Given the description of an element on the screen output the (x, y) to click on. 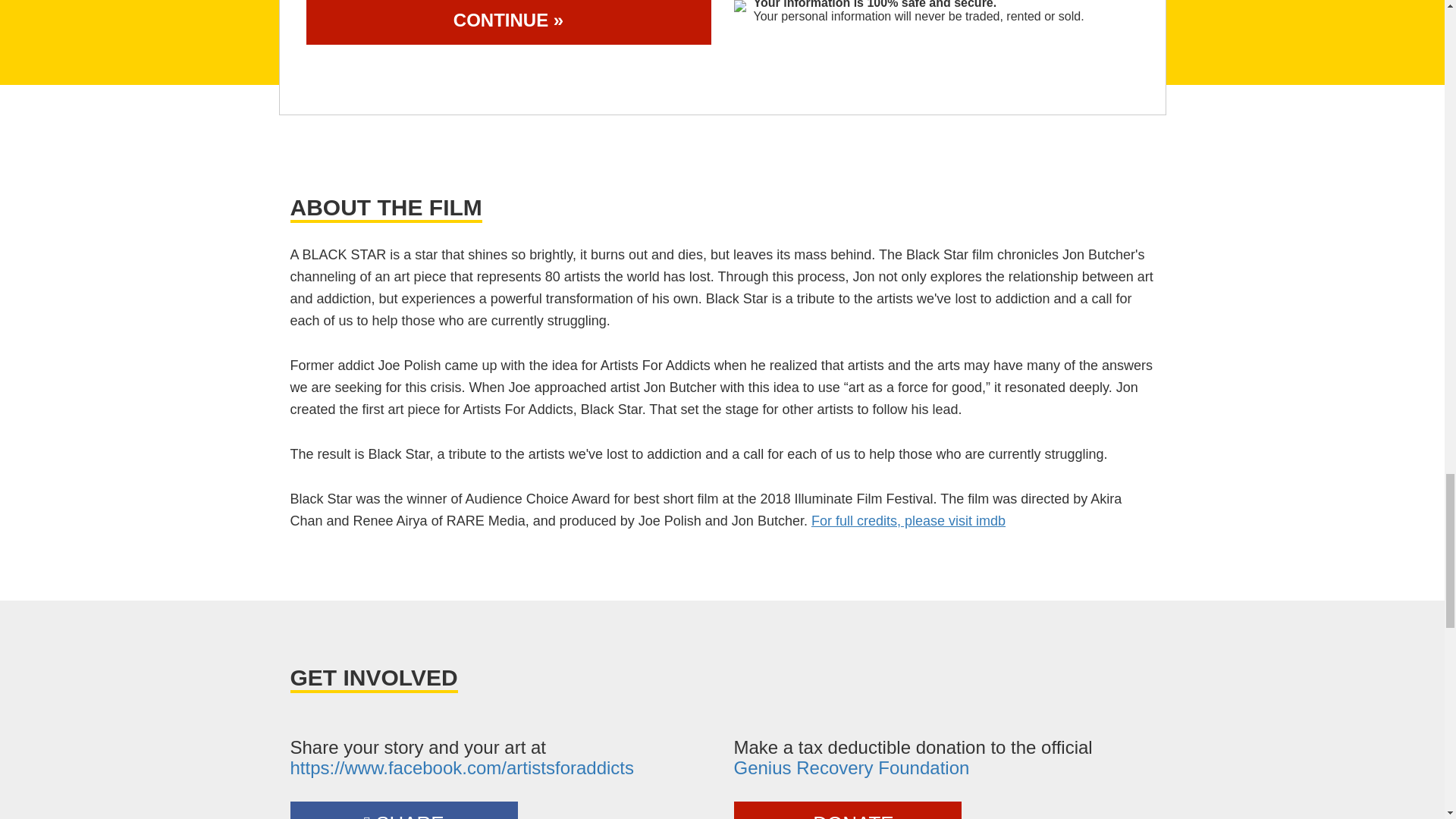
For full credits, please visit imdb (908, 520)
SHARE (402, 810)
DONATE (846, 810)
Genius Recovery Foundation (851, 767)
